Given the description of an element on the screen output the (x, y) to click on. 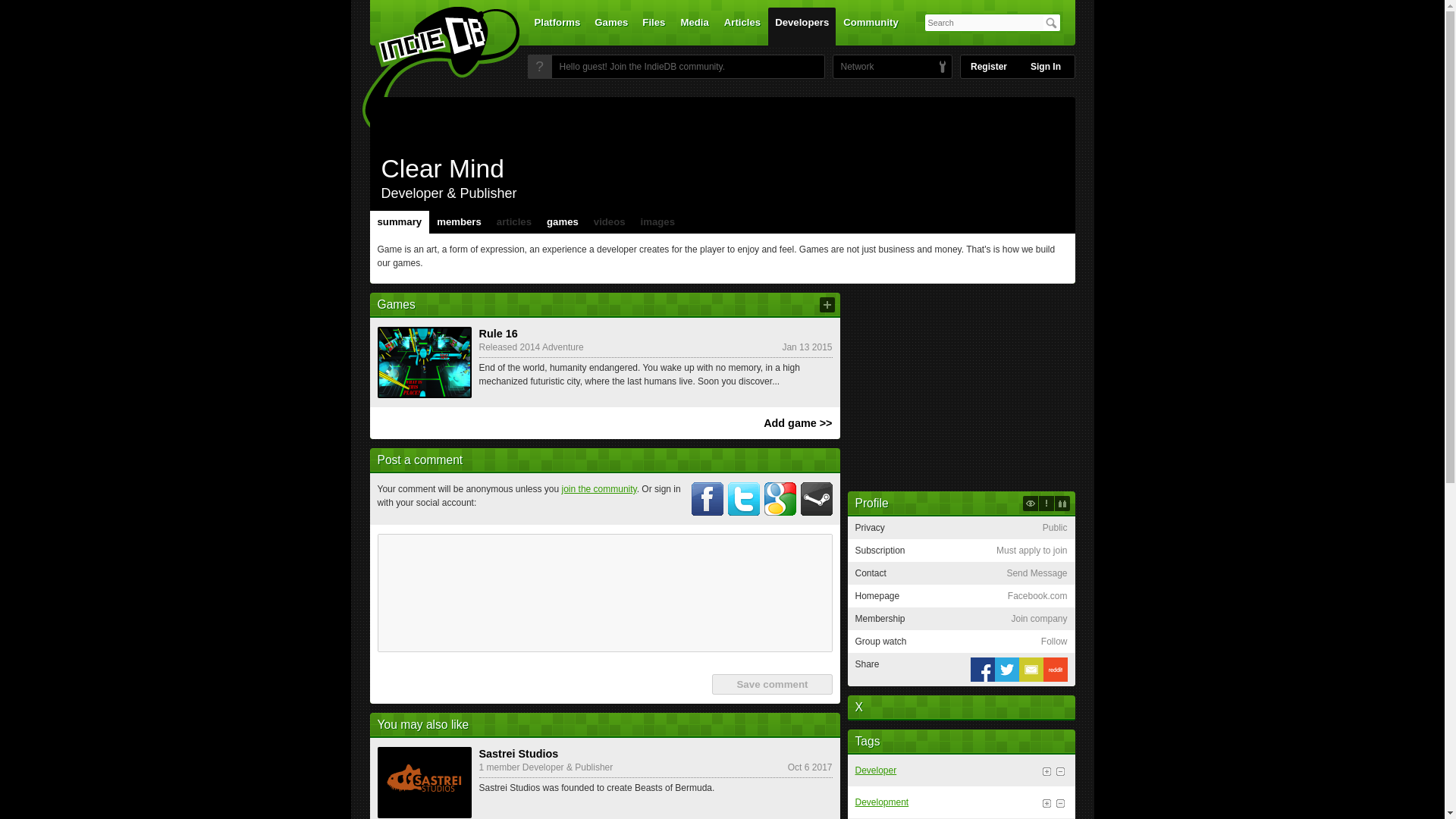
Click to connect via Facebook (707, 498)
Community (870, 26)
Click to connect via Google (780, 498)
DBolical (852, 66)
Save comment (771, 684)
Sastrei Studios (424, 782)
Media (694, 26)
Home (430, 70)
Search IndieDB (1050, 22)
ModDB - Change the game (941, 66)
Games (611, 26)
Search (1050, 22)
Platforms (557, 26)
Rule 16 (424, 362)
Click to connect via Twitter (744, 498)
